Given the description of an element on the screen output the (x, y) to click on. 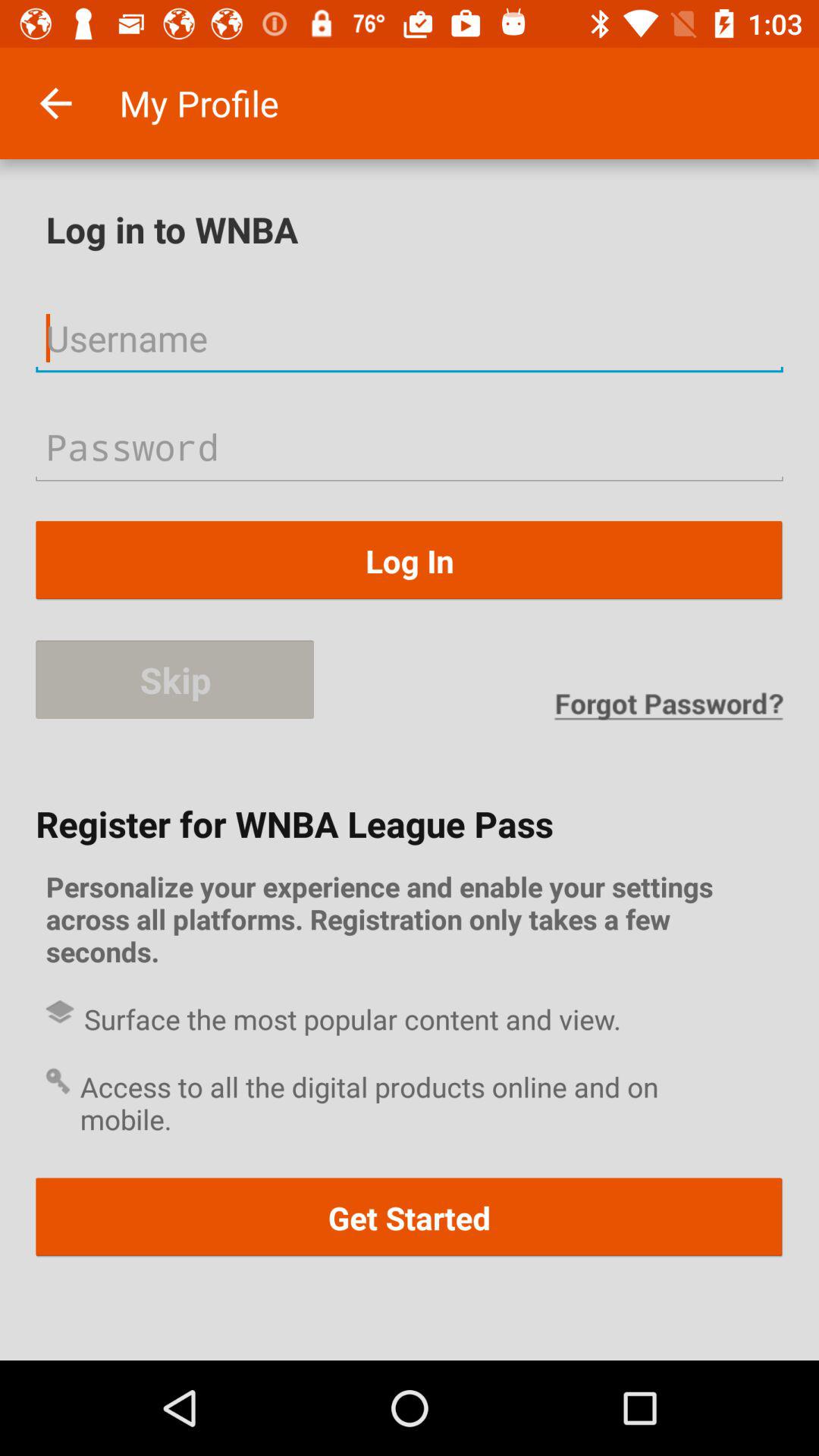
password input (409, 446)
